Given the description of an element on the screen output the (x, y) to click on. 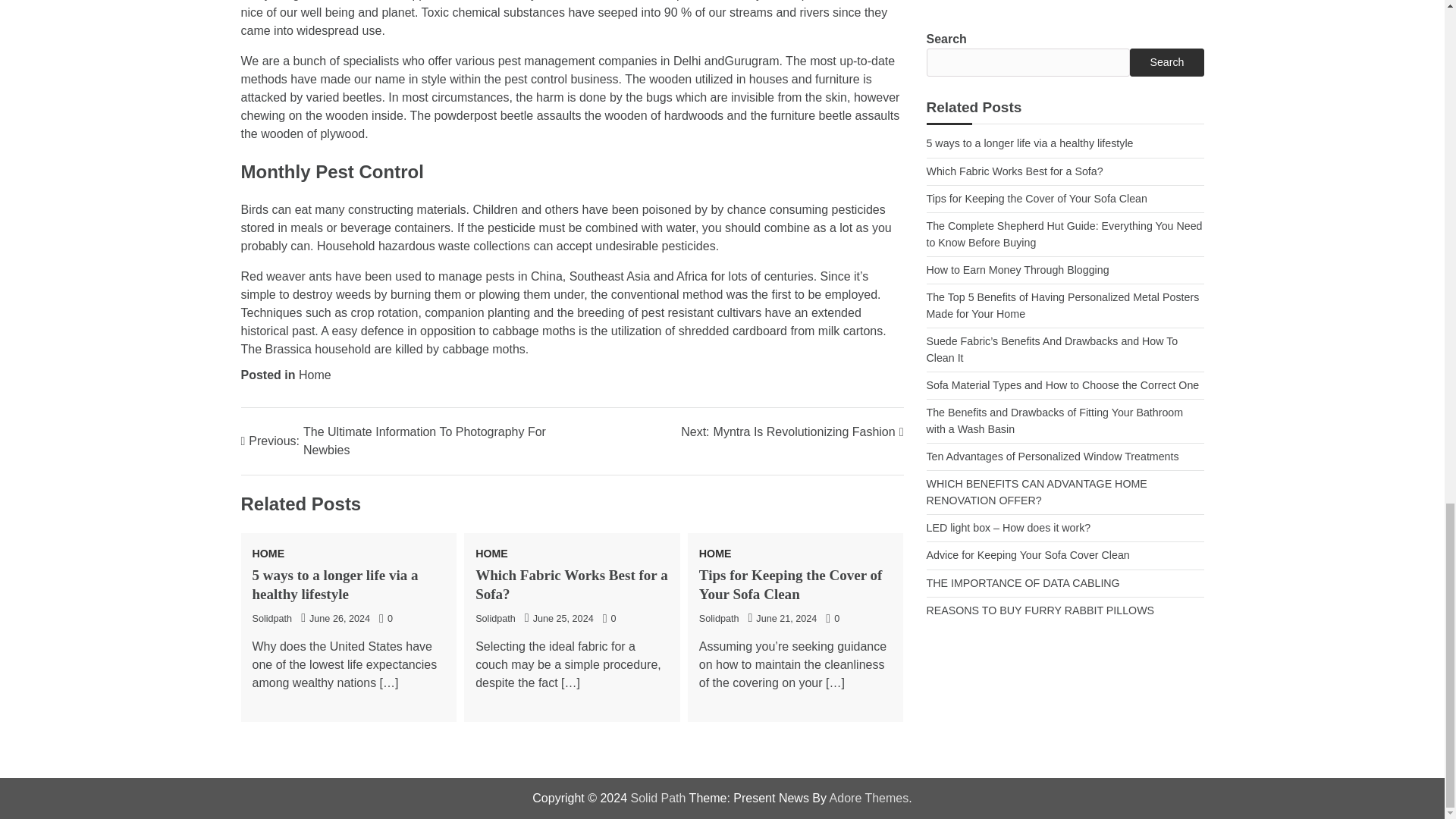
Solidpath (495, 618)
HOME (492, 552)
5 ways to a longer life via a healthy lifestyle (334, 584)
Solidpath (271, 618)
HOME (715, 552)
Which Fabric Works Best for a Sofa? (572, 584)
Tips for Keeping the Cover of Your Sofa Clean (790, 584)
Solidpath (718, 618)
Solid Path (657, 797)
